Given the description of an element on the screen output the (x, y) to click on. 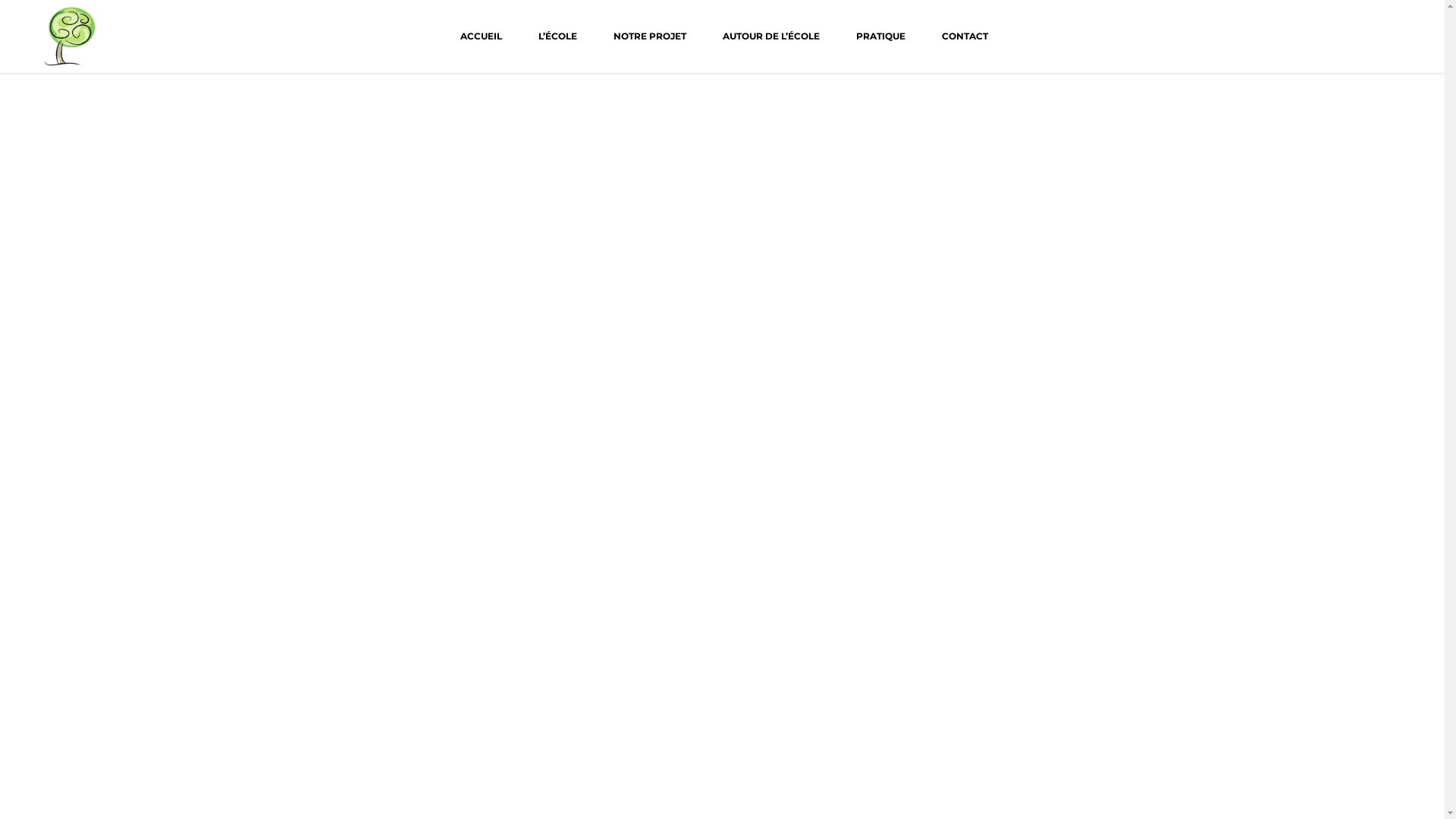
PRATIQUE Element type: text (879, 36)
CONTACT Element type: text (964, 36)
ACCUEIL Element type: text (480, 36)
NOTRE PROJET Element type: text (648, 36)
